Given the description of an element on the screen output the (x, y) to click on. 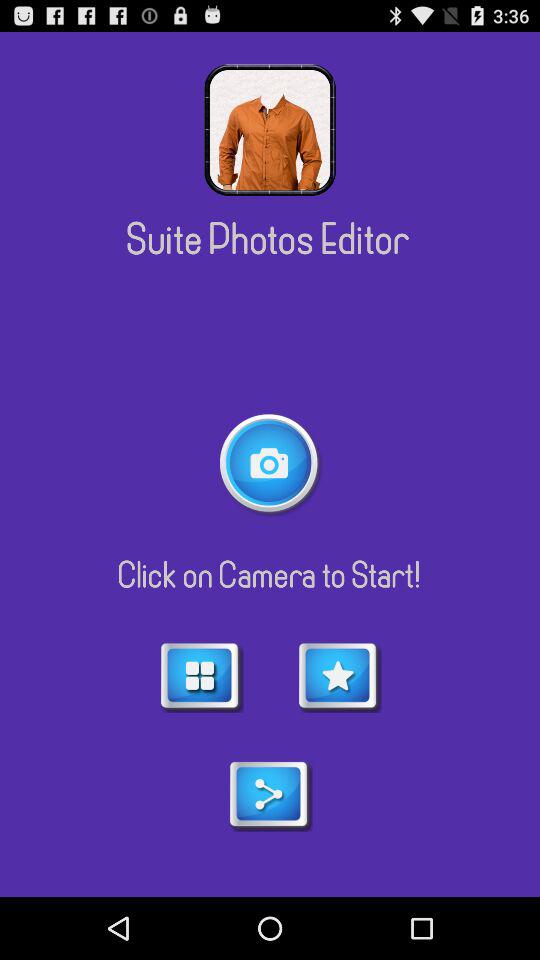
open camera (269, 463)
